Given the description of an element on the screen output the (x, y) to click on. 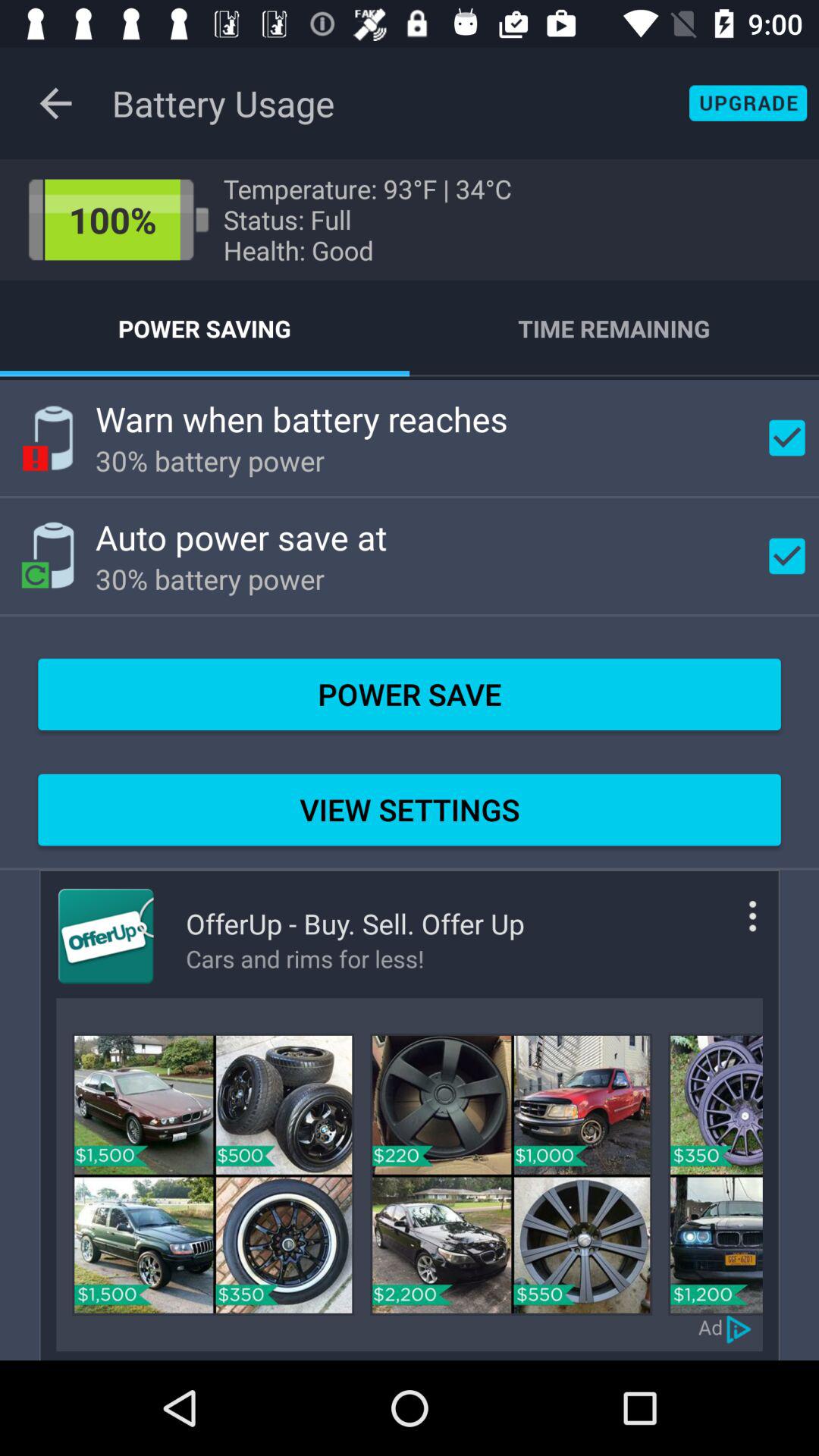
go back (55, 103)
